Given the description of an element on the screen output the (x, y) to click on. 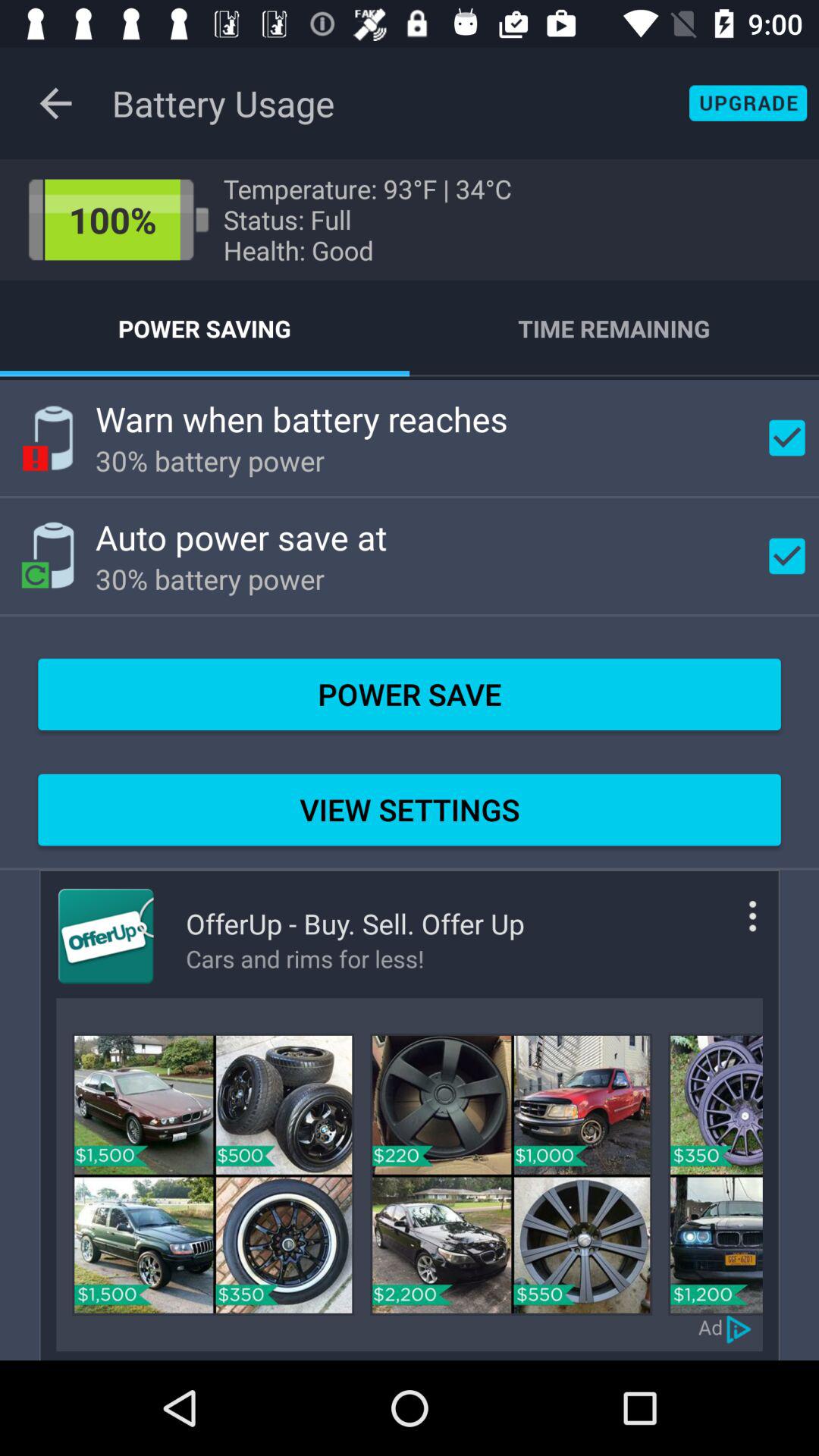
go back (55, 103)
